Given the description of an element on the screen output the (x, y) to click on. 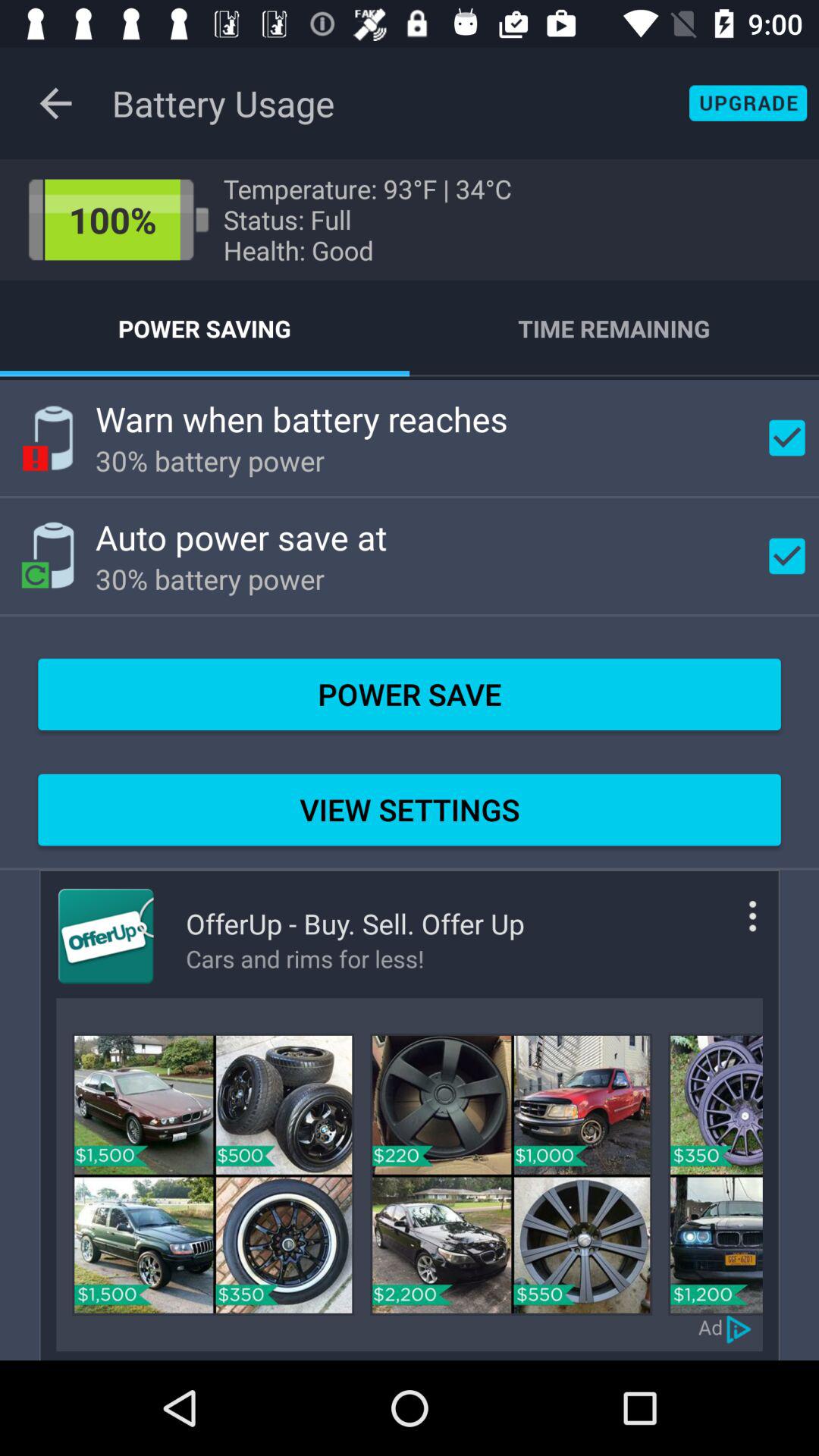
go back (55, 103)
